Given the description of an element on the screen output the (x, y) to click on. 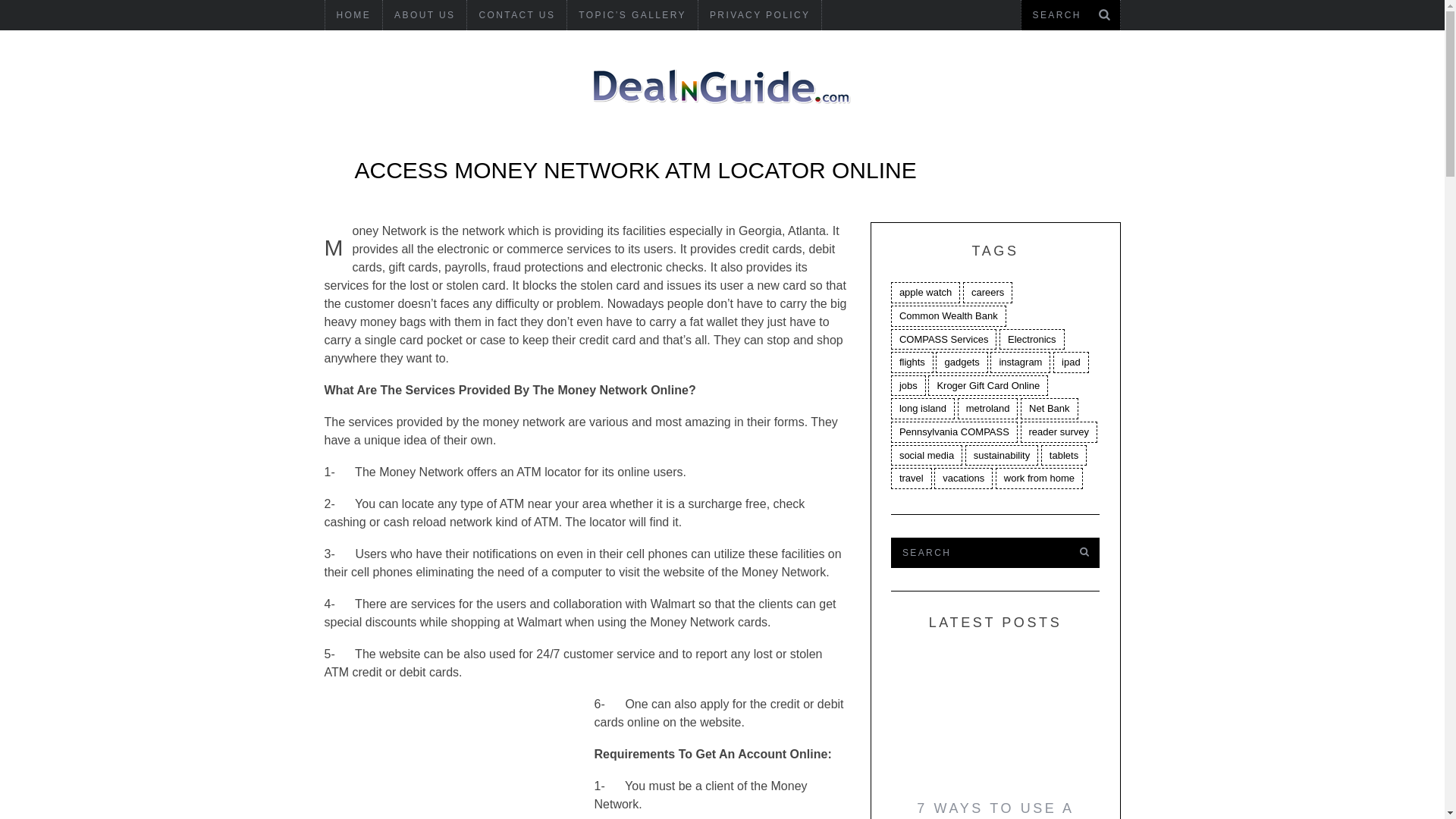
Advertisement (458, 760)
Search (1070, 15)
Search (976, 552)
